Given the description of an element on the screen output the (x, y) to click on. 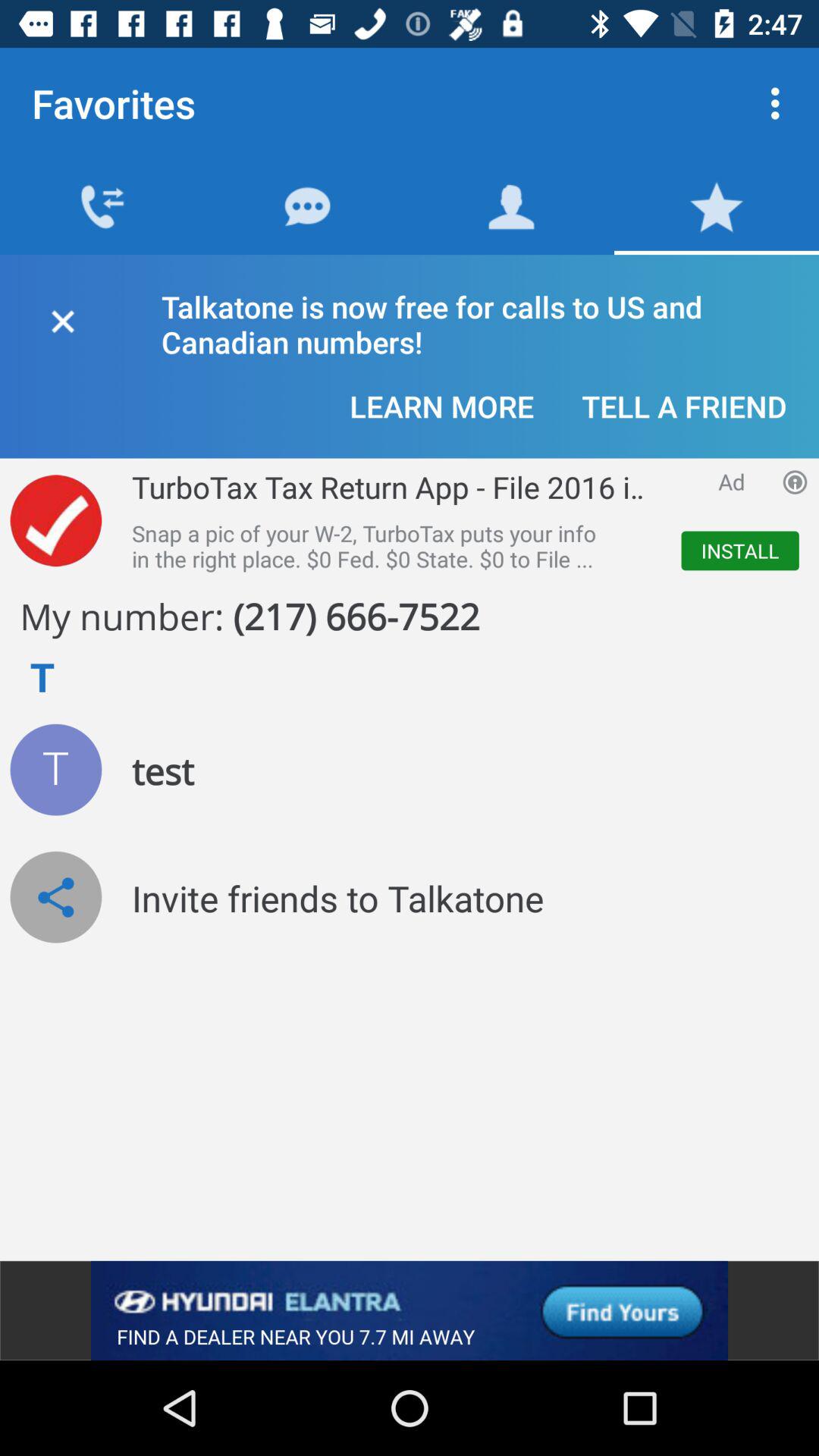
advertisement (795, 482)
